Given the description of an element on the screen output the (x, y) to click on. 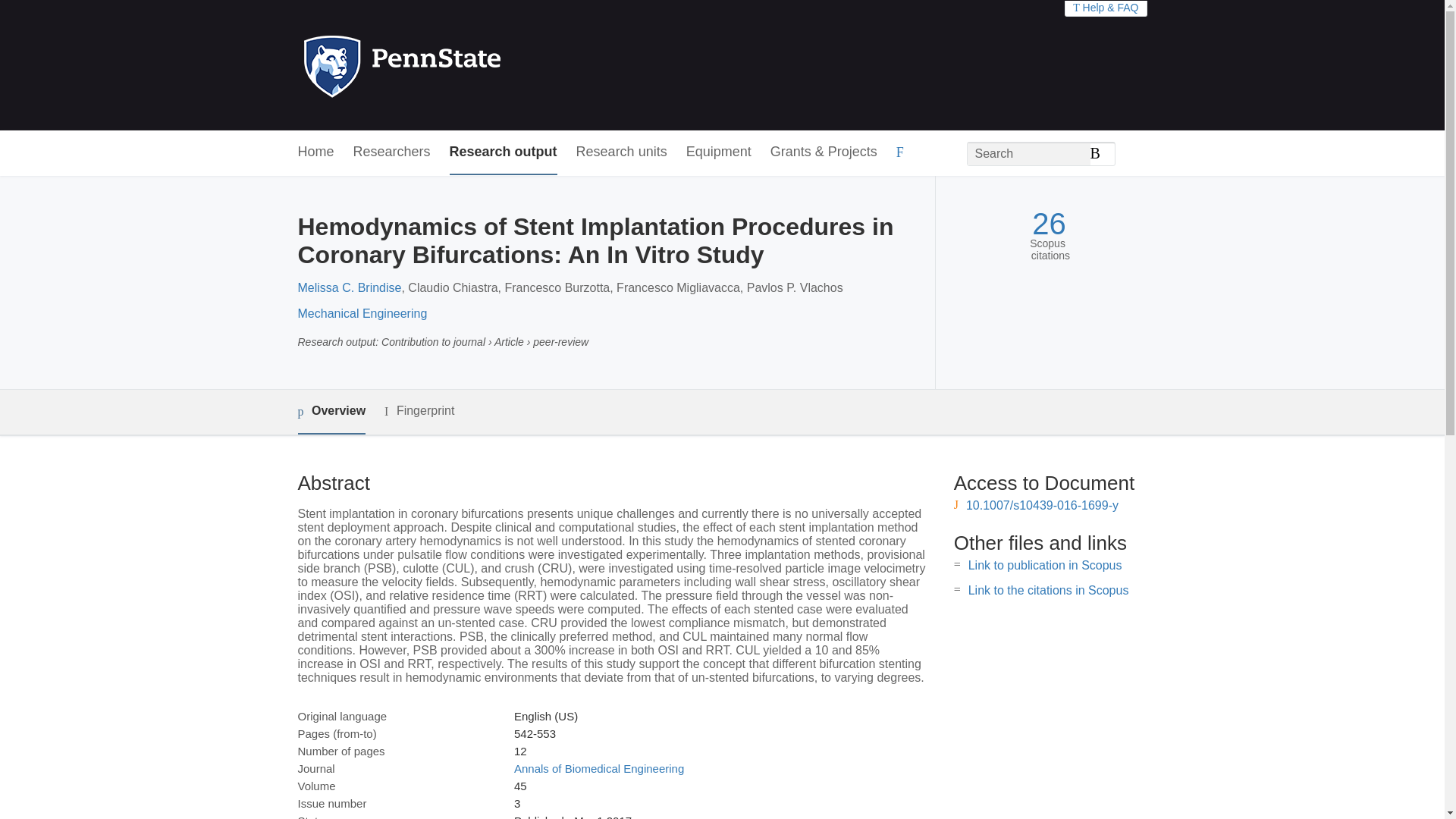
26 (1048, 223)
Overview (331, 411)
Equipment (718, 152)
Research output (503, 152)
Fingerprint (419, 411)
Link to the citations in Scopus (1048, 590)
Mechanical Engineering (361, 313)
Annals of Biomedical Engineering (598, 768)
Melissa C. Brindise (349, 287)
Link to publication in Scopus (1045, 564)
Research units (621, 152)
Researchers (391, 152)
Penn State Home (467, 65)
